Given the description of an element on the screen output the (x, y) to click on. 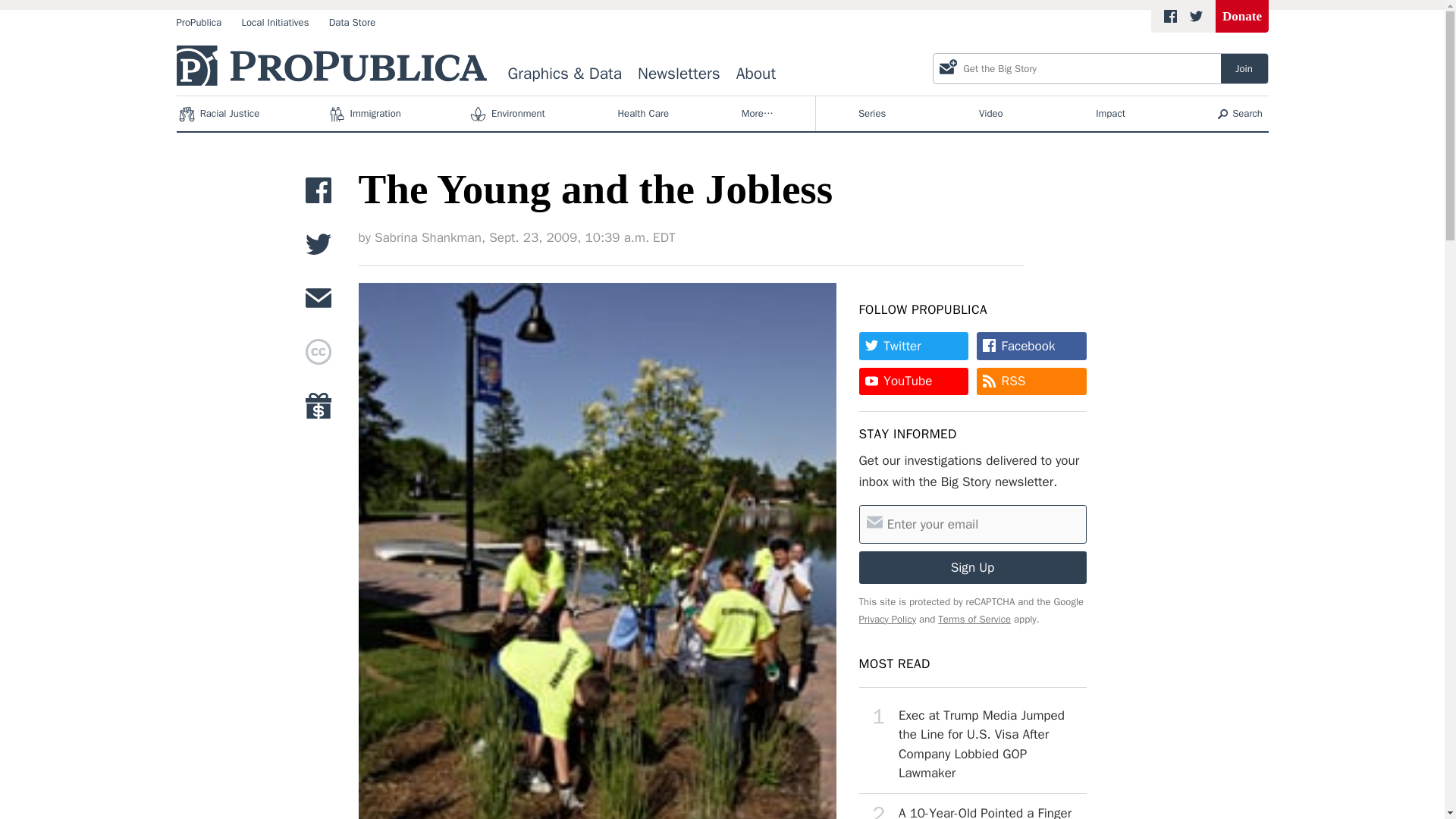
Data Store (352, 22)
Immigration (366, 113)
Search (1240, 113)
Twitter (913, 345)
About (755, 74)
View this (972, 744)
Impact (1110, 113)
View this (972, 806)
Environment (508, 113)
Racial Justice (220, 113)
